Given the description of an element on the screen output the (x, y) to click on. 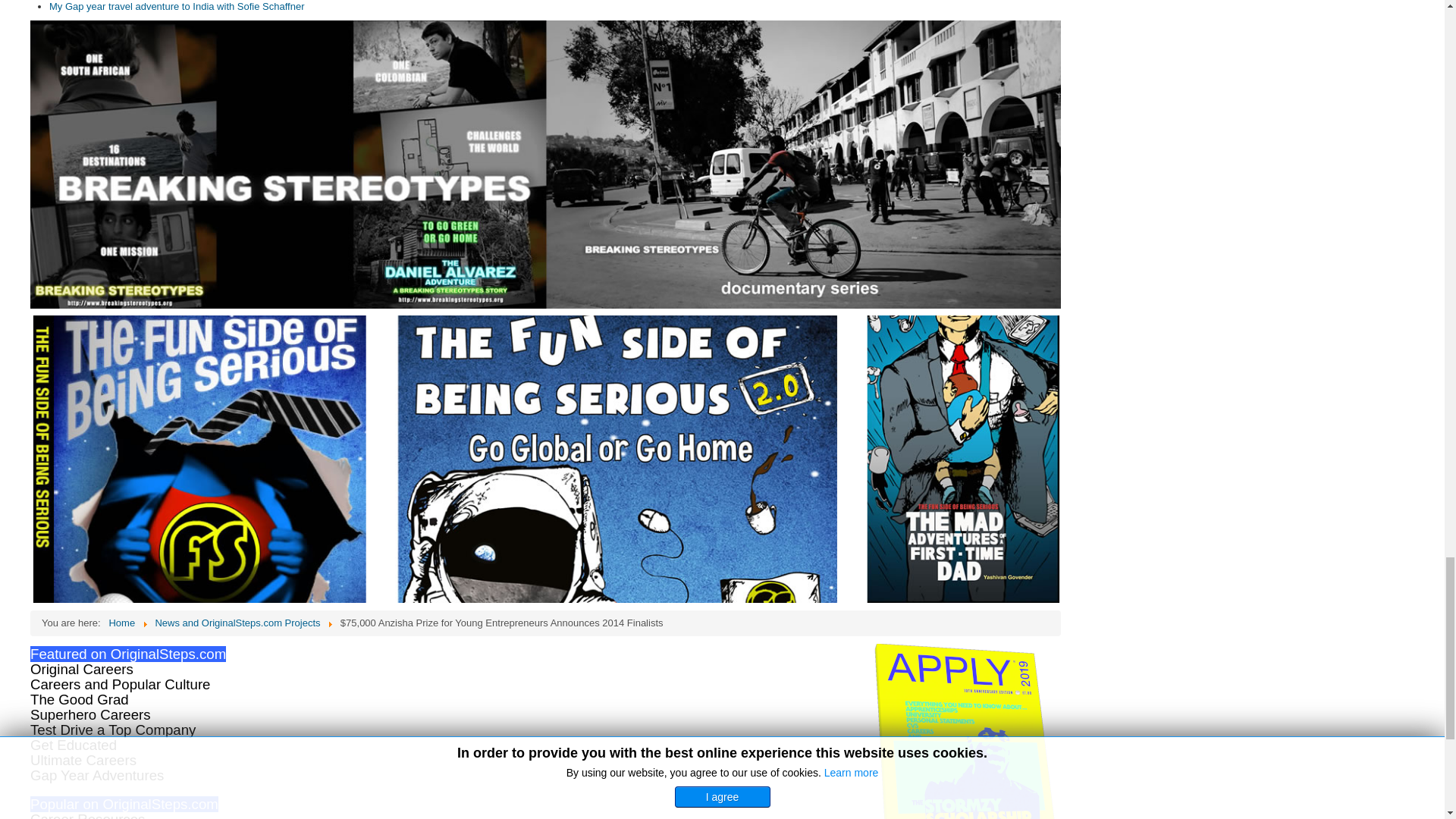
Pure Potential - APPLY 2019 (965, 731)
